Given the description of an element on the screen output the (x, y) to click on. 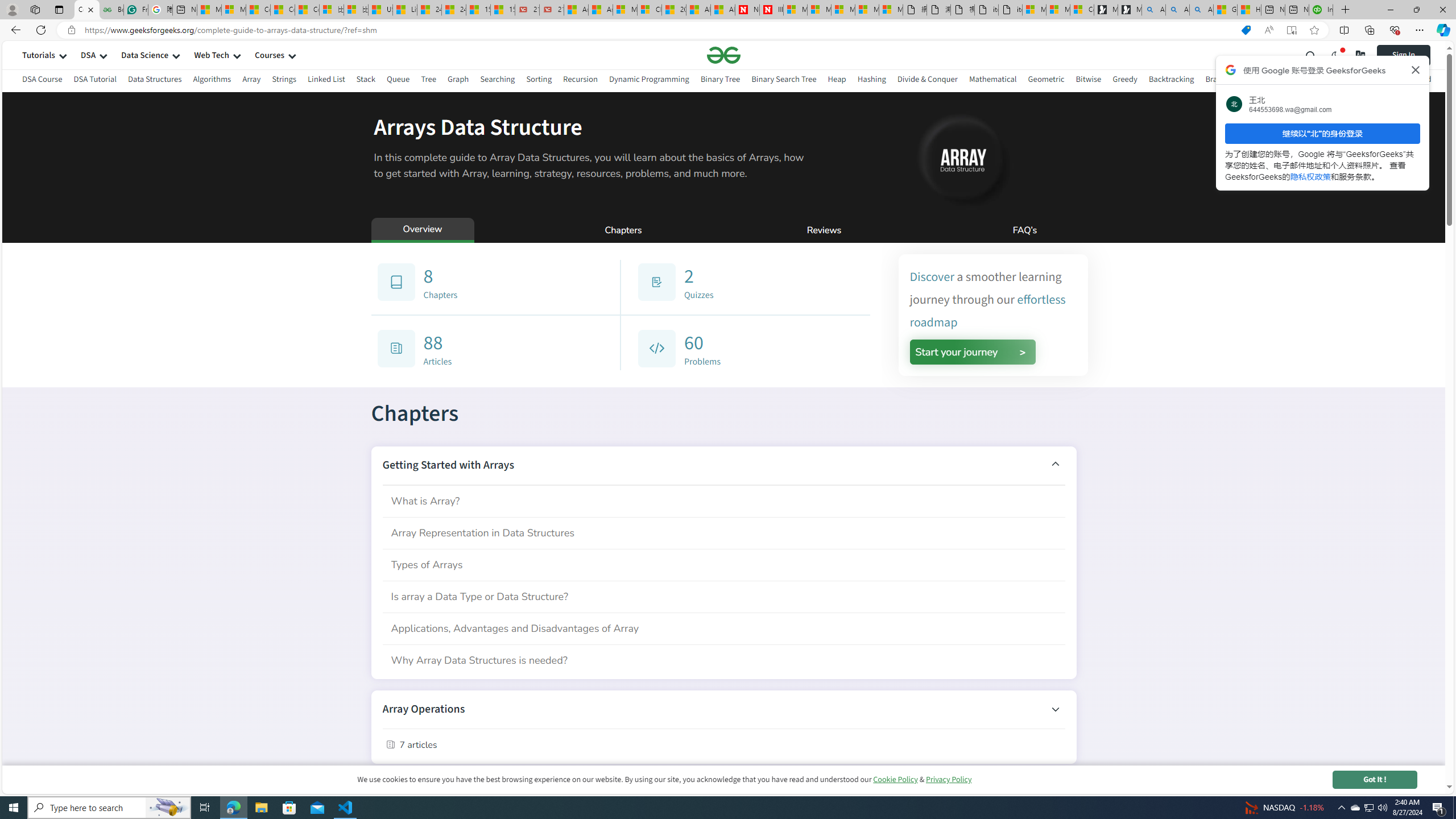
Heap (836, 80)
15 Ways Modern Life Contradicts the Teachings of Jesus (502, 9)
Searching (497, 79)
How to Use a TV as a Computer Monitor (1248, 9)
AutomationID: gfg-nuj-heading-image (960, 157)
Pattern Searching (1344, 80)
Geometric (1046, 79)
Is array a Data Type or Data Structure? (723, 596)
Greedy (1124, 79)
Matrix (1291, 80)
Data Science (144, 55)
Matrix (1291, 79)
